Given the description of an element on the screen output the (x, y) to click on. 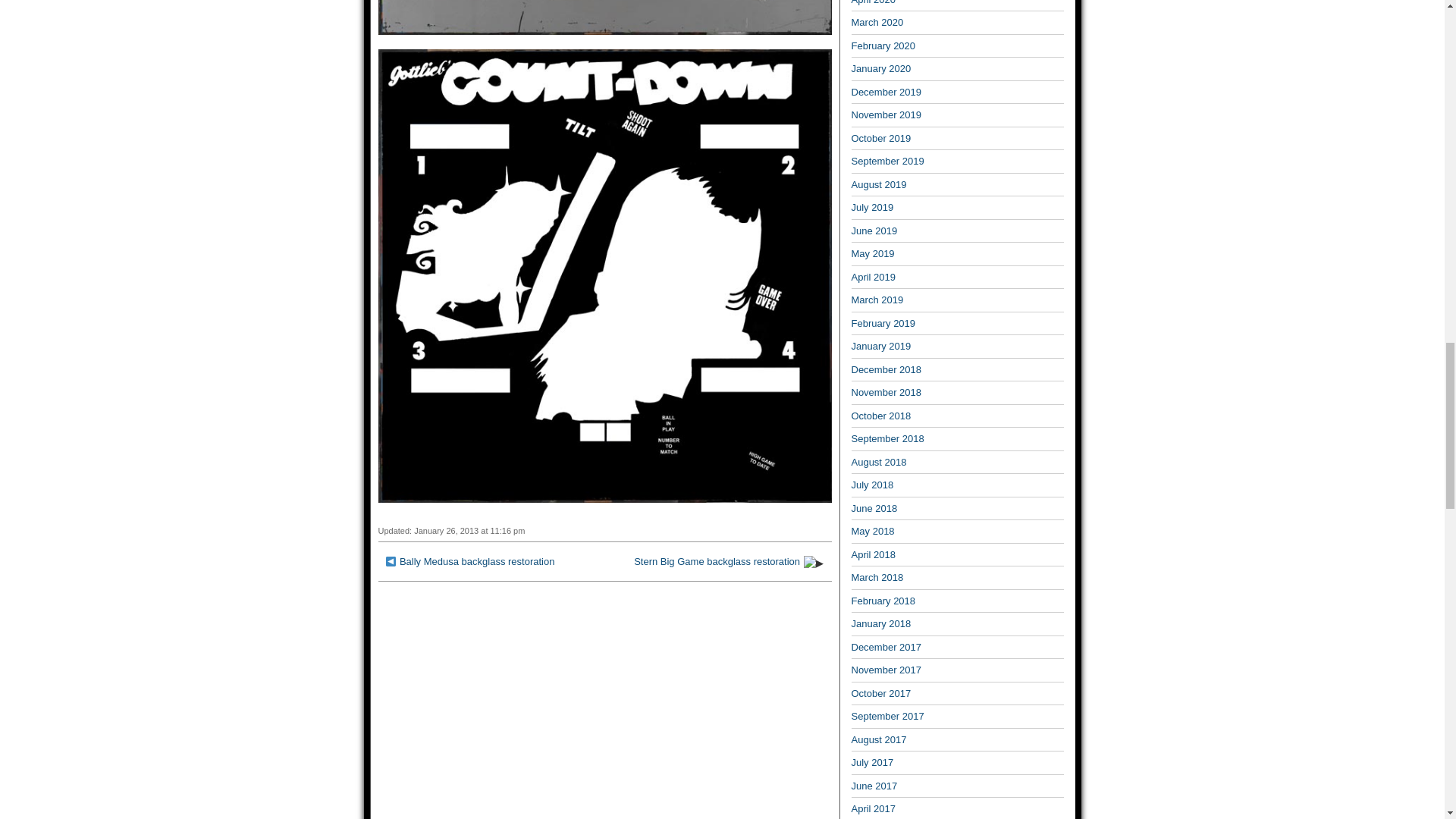
Bally Medusa backglass restoration (476, 561)
Stern Big Game backglass restoration (716, 561)
